Given the description of an element on the screen output the (x, y) to click on. 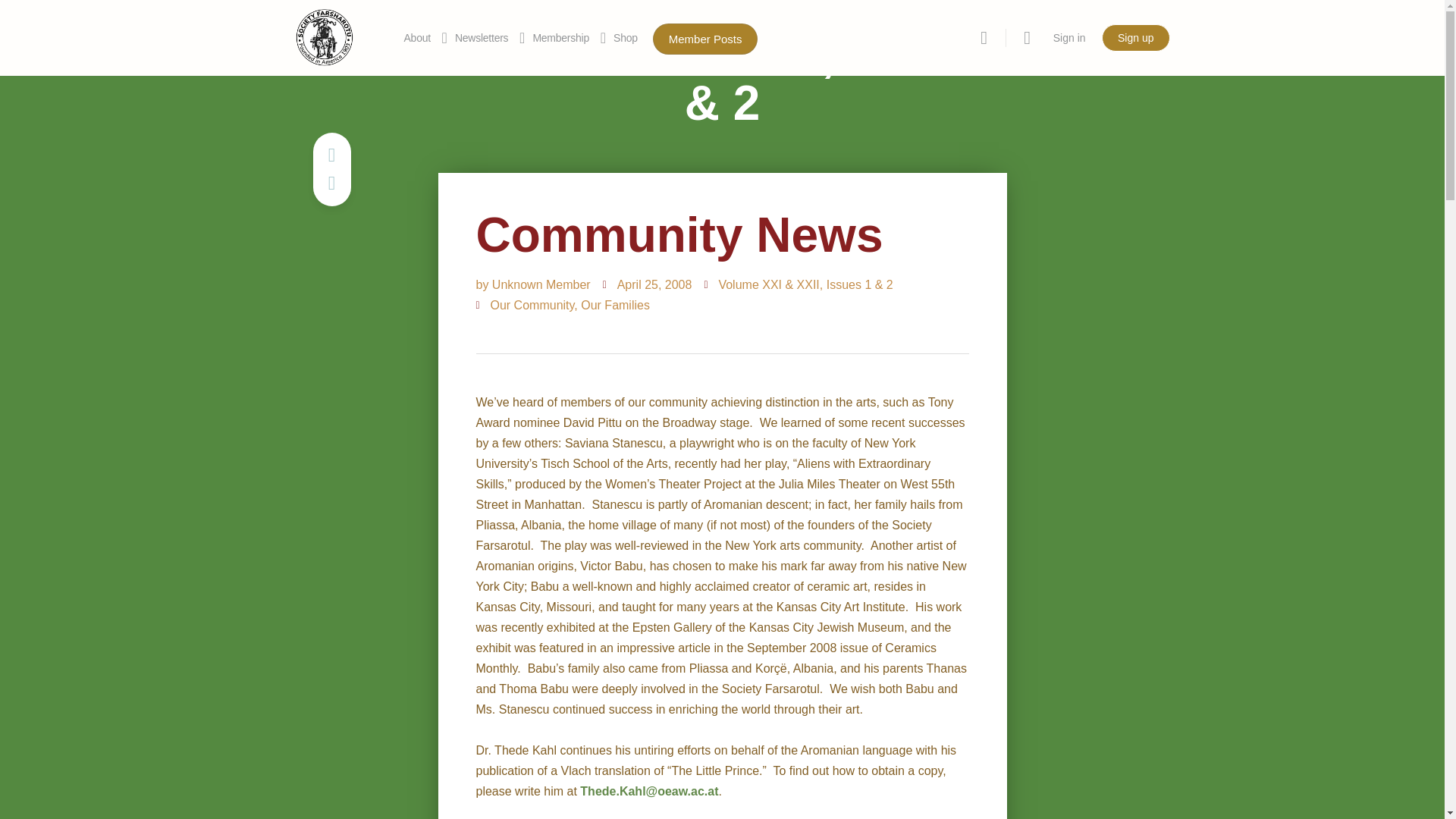
Member Posts (705, 38)
About (416, 38)
Member Posts (705, 39)
Newsletters (481, 38)
Sign in (1068, 37)
Sign up (1135, 37)
Shop (624, 38)
Membership (560, 38)
